Given the description of an element on the screen output the (x, y) to click on. 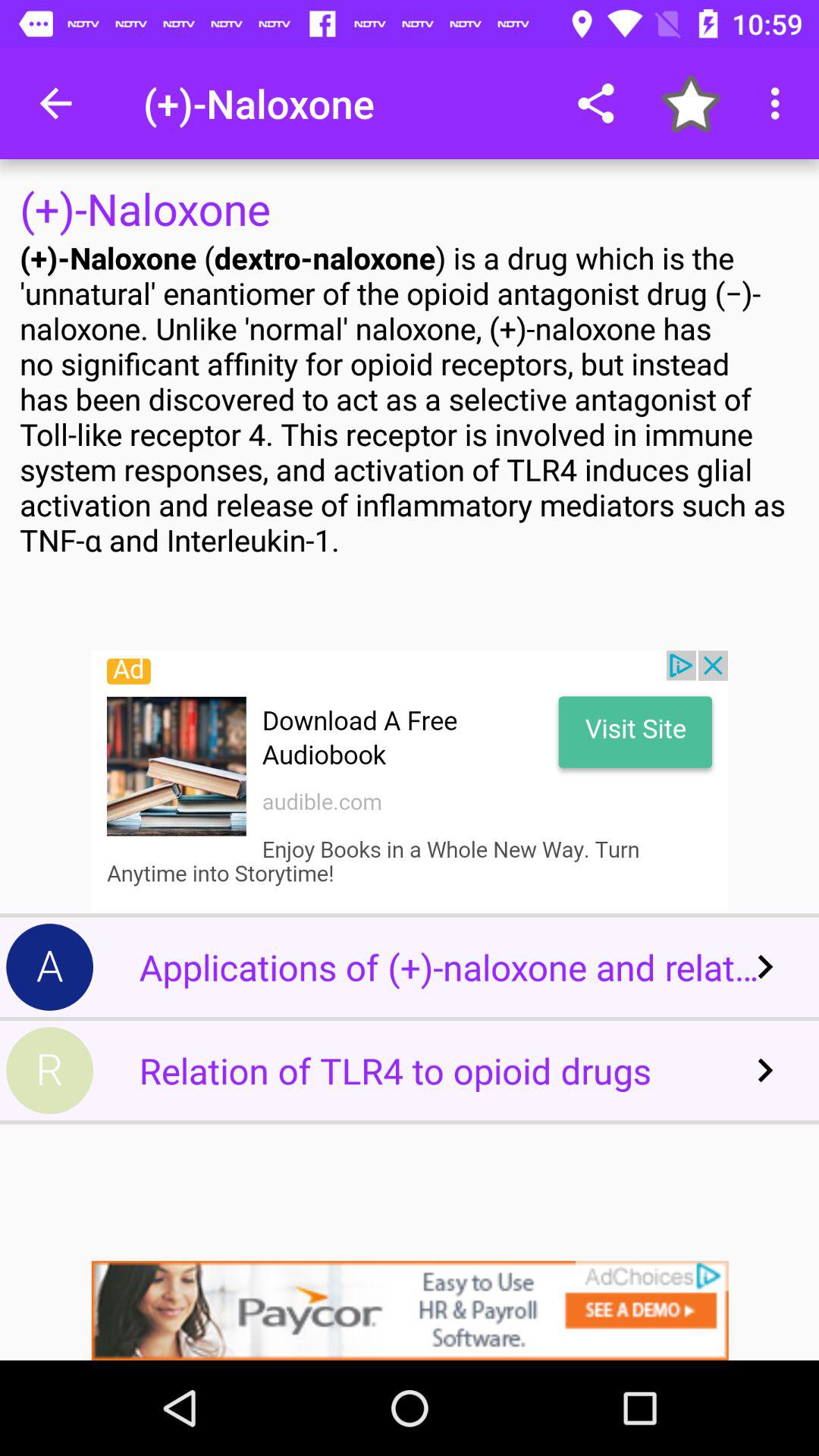
advertisement link (409, 781)
